Given the description of an element on the screen output the (x, y) to click on. 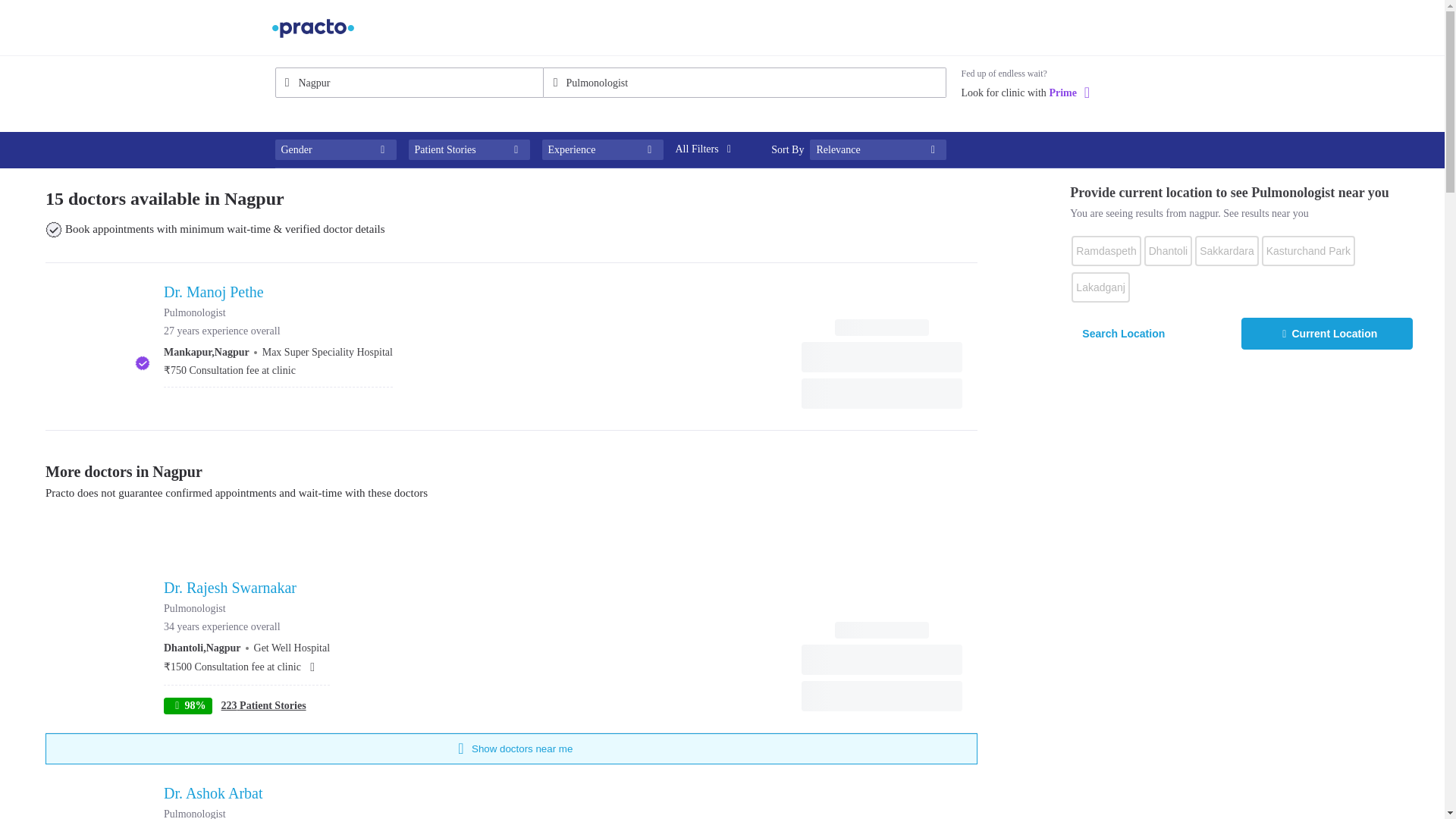
Nagpur (409, 82)
Show doctors near me (510, 748)
Get Well Hospital (291, 647)
Nagpur (409, 82)
Dr. Manoj Pethe (278, 291)
Pulmonologist (743, 82)
Dhantoli,Nagpur (202, 647)
223 Patient Stories (263, 705)
Dr. Ashok Arbat (255, 792)
Max Super Speciality Hospital (327, 351)
